Given the description of an element on the screen output the (x, y) to click on. 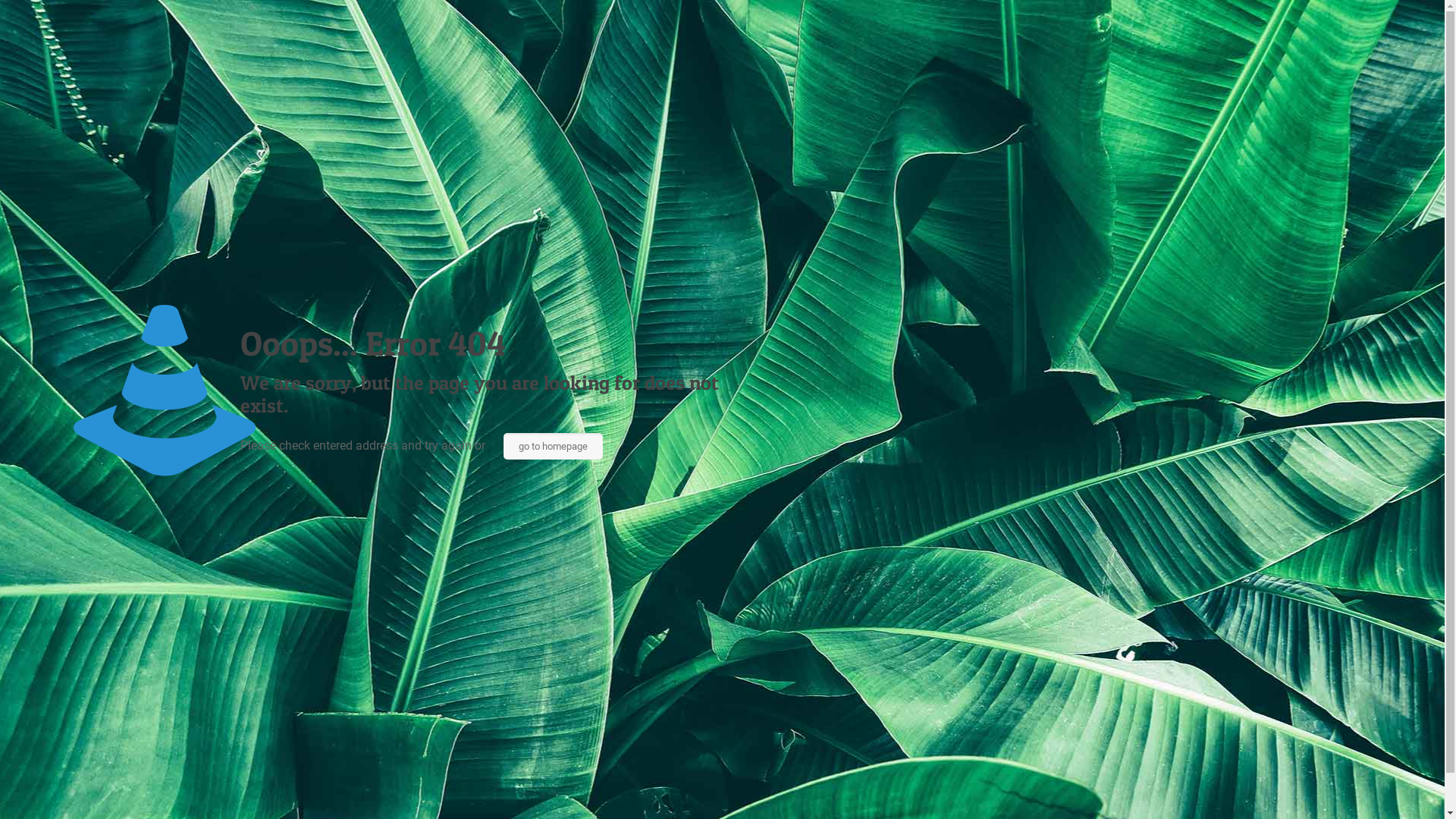
go to homepage Element type: text (552, 446)
